Given the description of an element on the screen output the (x, y) to click on. 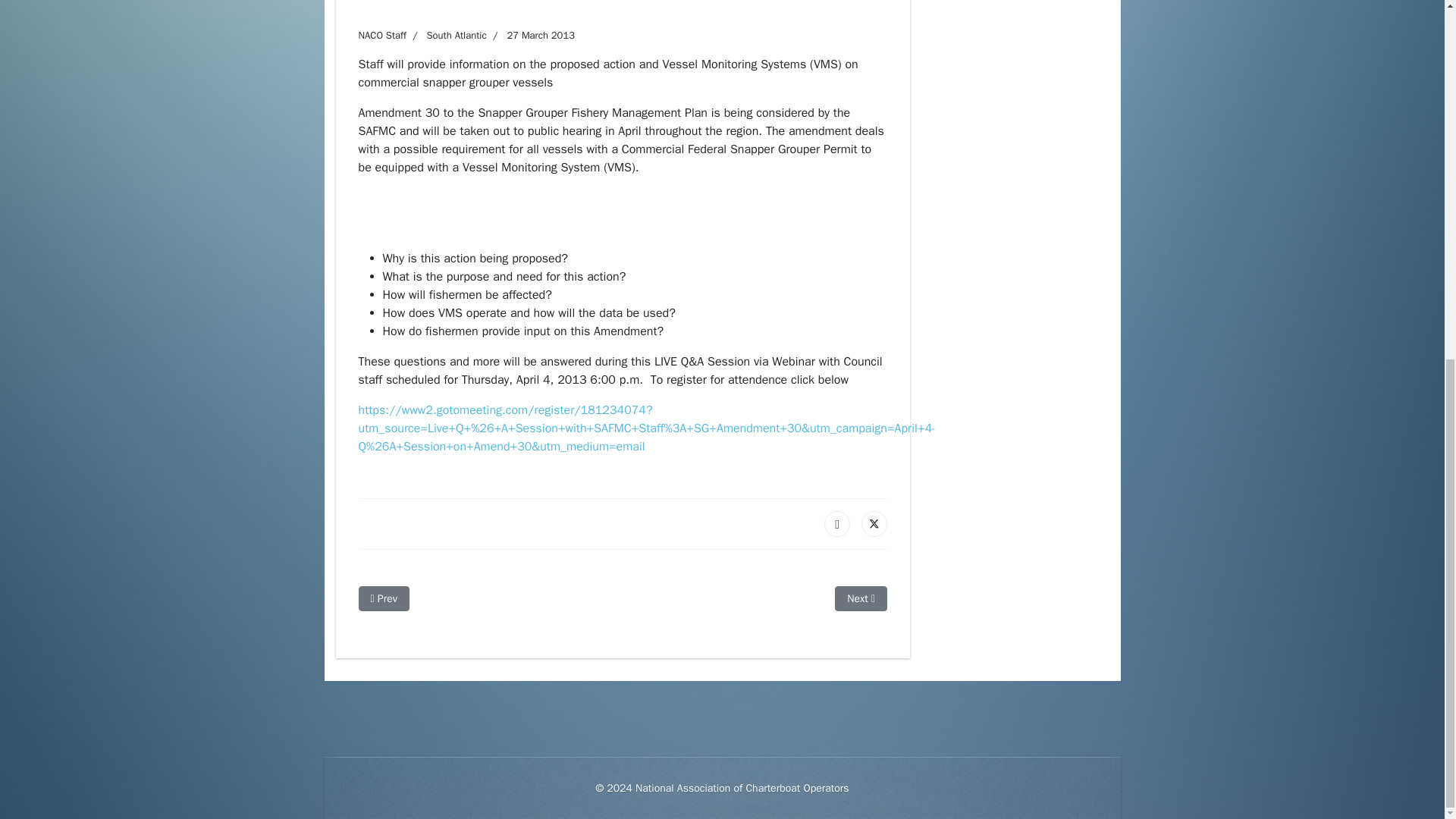
Facebook (837, 524)
Published: 27 March 2013 (530, 35)
Written by: NACO Staff (382, 35)
Category: South Atlantic (446, 35)
